Given the description of an element on the screen output the (x, y) to click on. 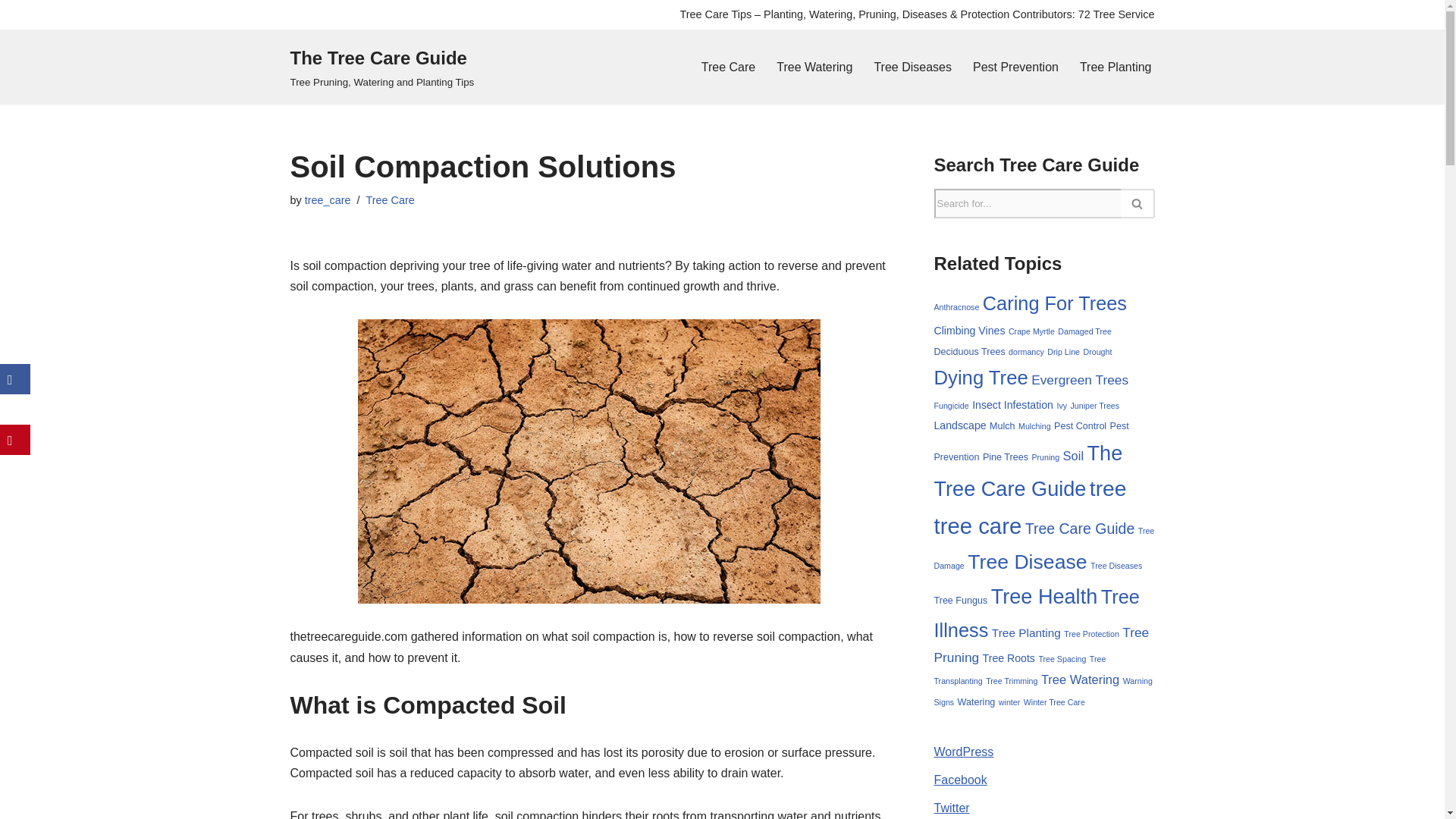
72 Tree Service (1116, 14)
Tree Care (728, 66)
Climbing Vines (970, 330)
72 Tree Service (1116, 14)
Tree Planting (1115, 66)
Crape Myrtle (1031, 330)
Skip to content (11, 31)
Tree Diseases (912, 66)
Tree Care (389, 200)
Caring For Trees (1054, 302)
